Given the description of an element on the screen output the (x, y) to click on. 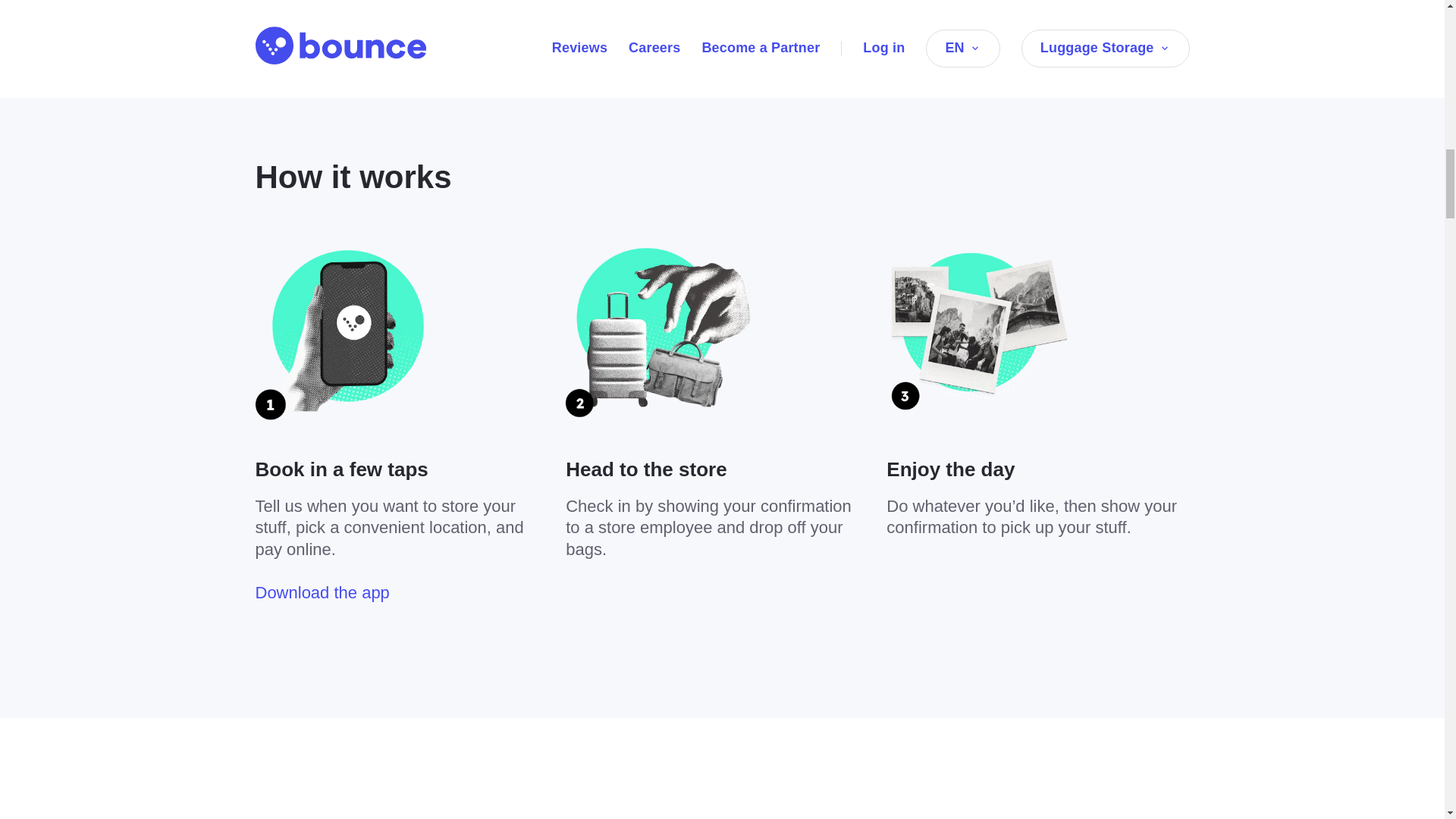
Download the app (321, 592)
